Given the description of an element on the screen output the (x, y) to click on. 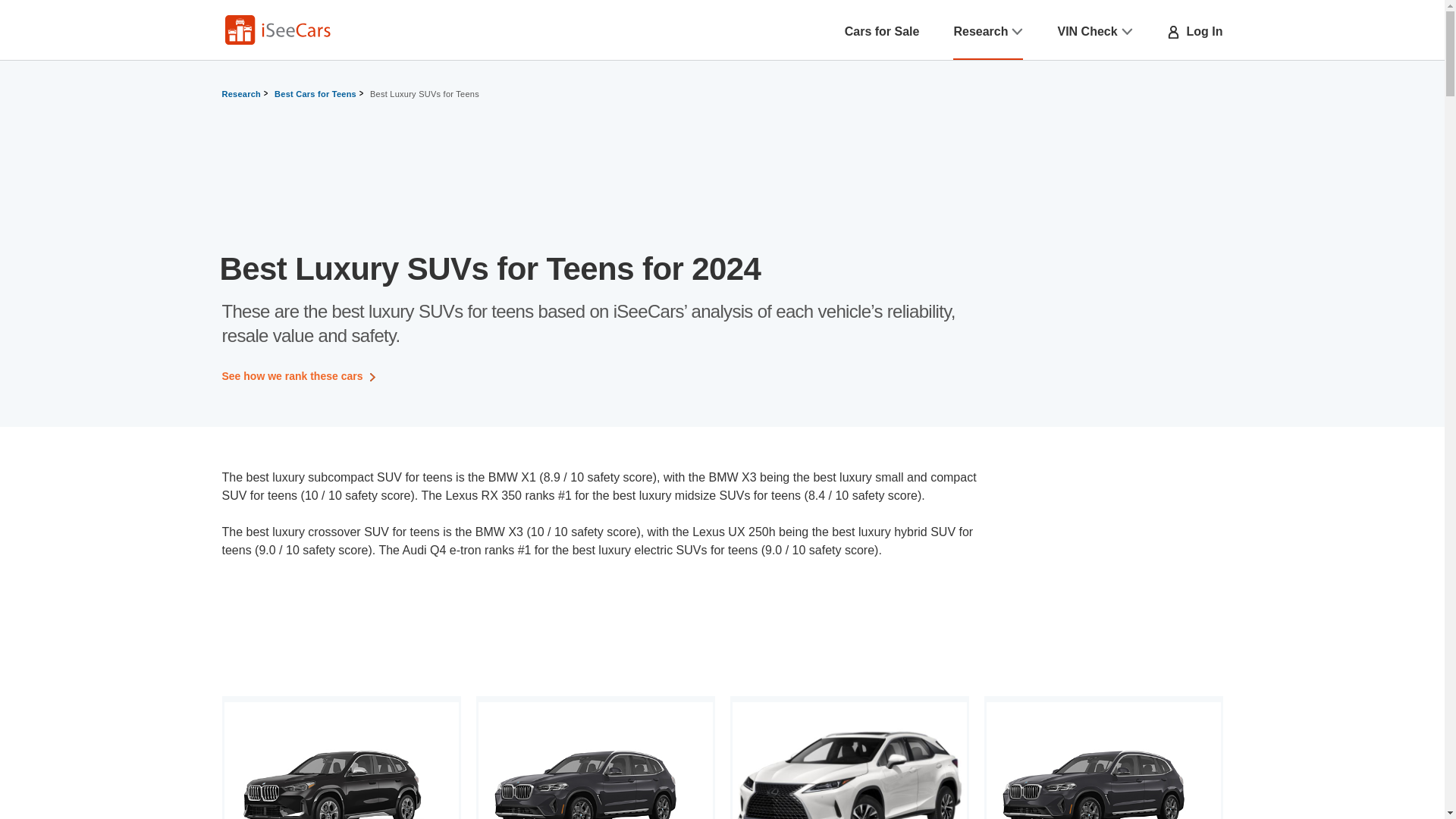
Research (241, 93)
Best Luxury SUVs for Teens (424, 93)
VIN Check (1094, 31)
Best Cars for Teens (314, 93)
  Log In (1195, 31)
See how we rank these cars (299, 375)
Research (988, 31)
Cars for Sale (882, 31)
